Given the description of an element on the screen output the (x, y) to click on. 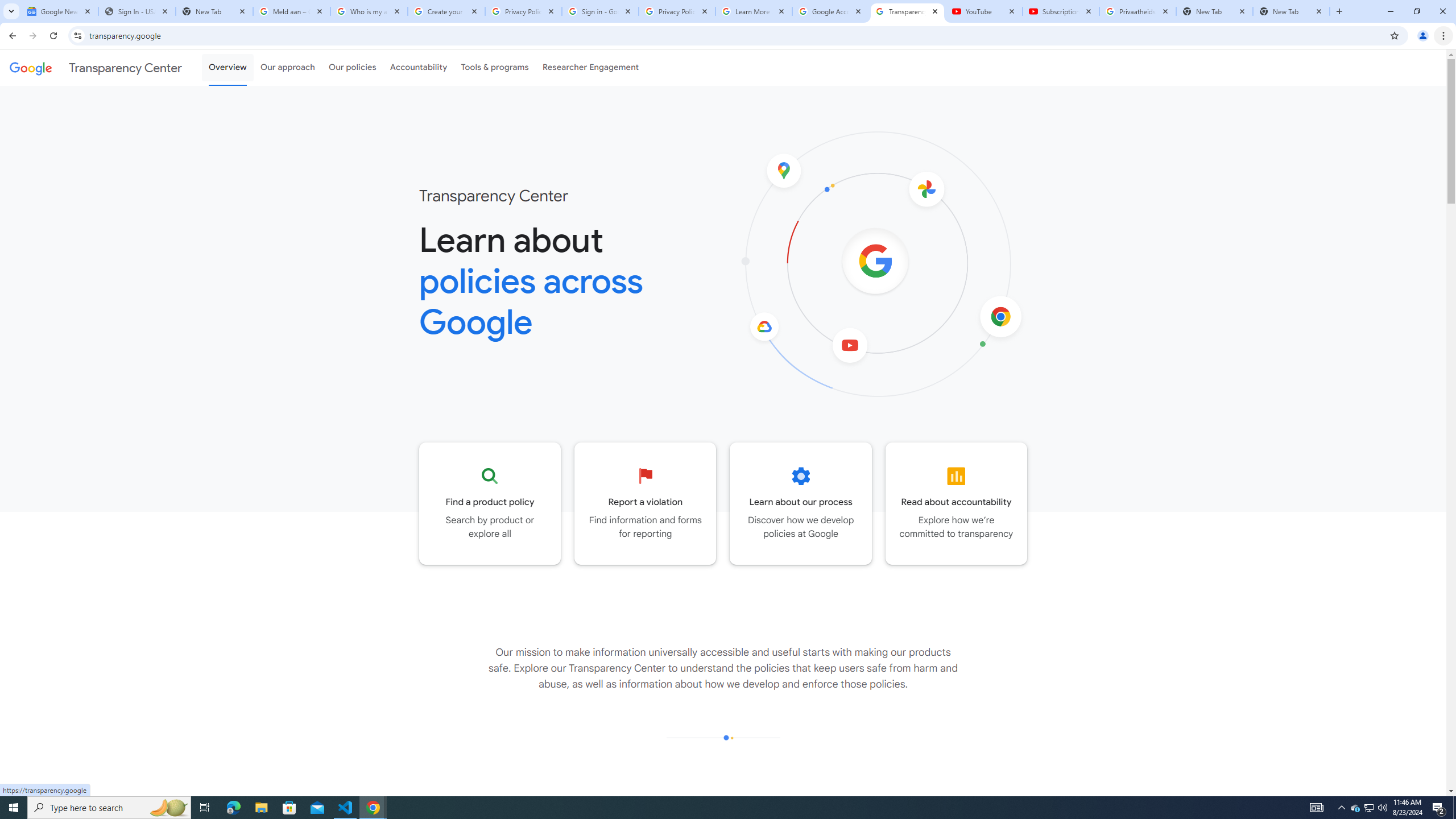
Researcher Engagement (590, 67)
Our policies (351, 67)
Go to the Reporting and appeals page (645, 503)
Who is my administrator? - Google Account Help (368, 11)
Go to the Accountability page (956, 503)
Create your Google Account (446, 11)
Subscriptions - YouTube (1061, 11)
Tools & programs (494, 67)
New Tab (1291, 11)
